Given the description of an element on the screen output the (x, y) to click on. 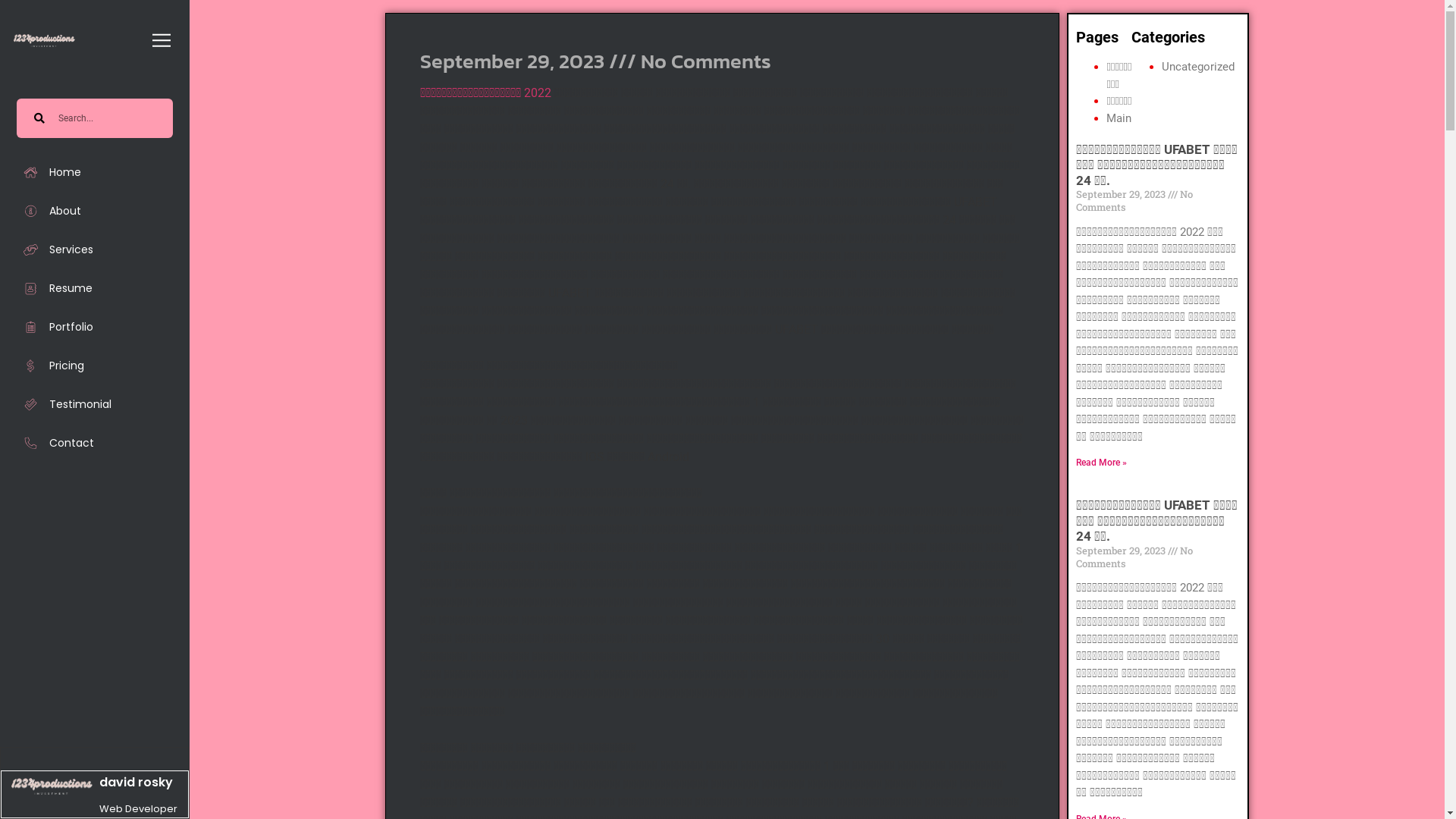
Uncategorized Element type: text (1197, 66)
Main Element type: text (1118, 117)
Search Element type: hover (108, 118)
